Given the description of an element on the screen output the (x, y) to click on. 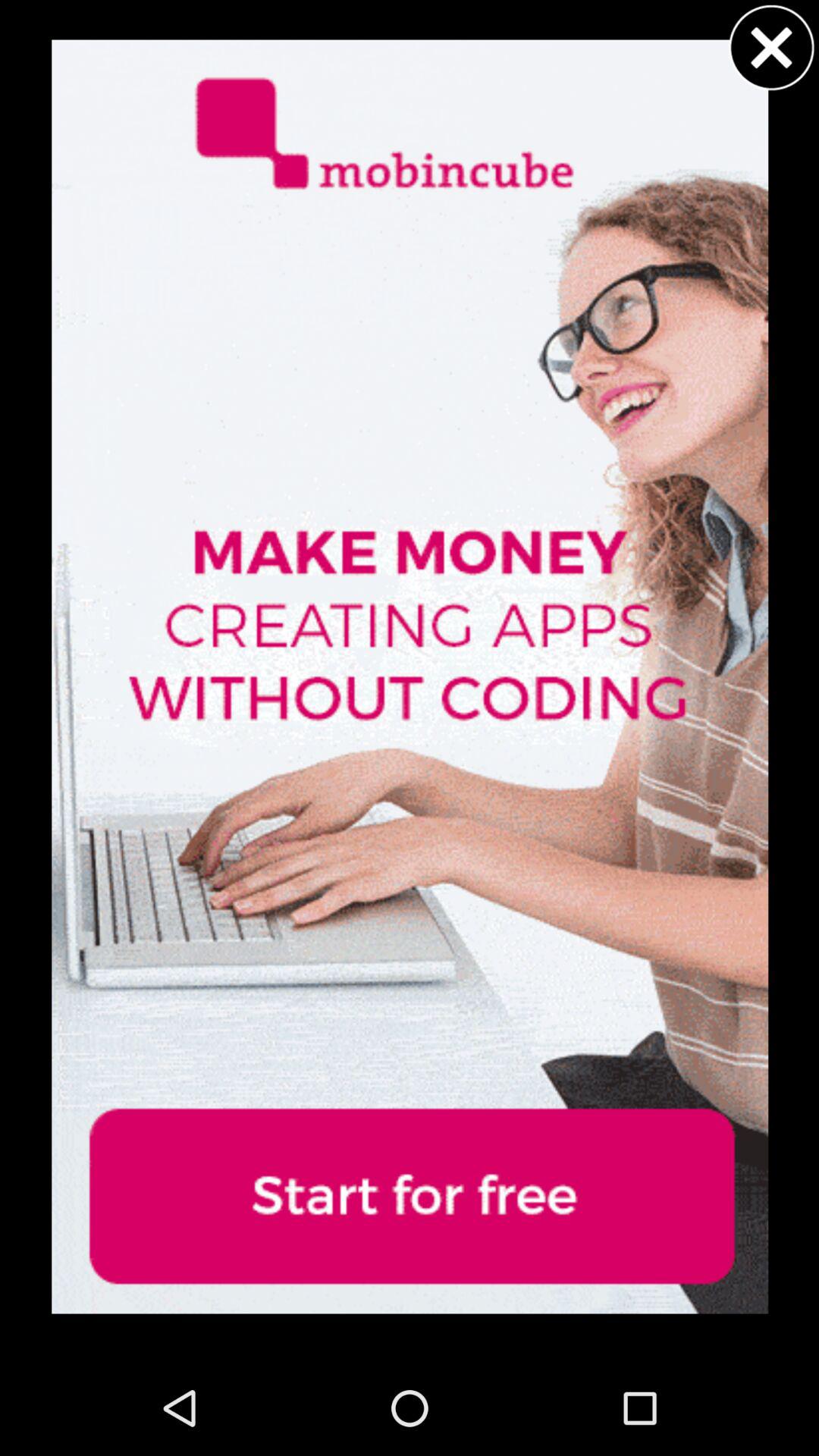
close (771, 47)
